Given the description of an element on the screen output the (x, y) to click on. 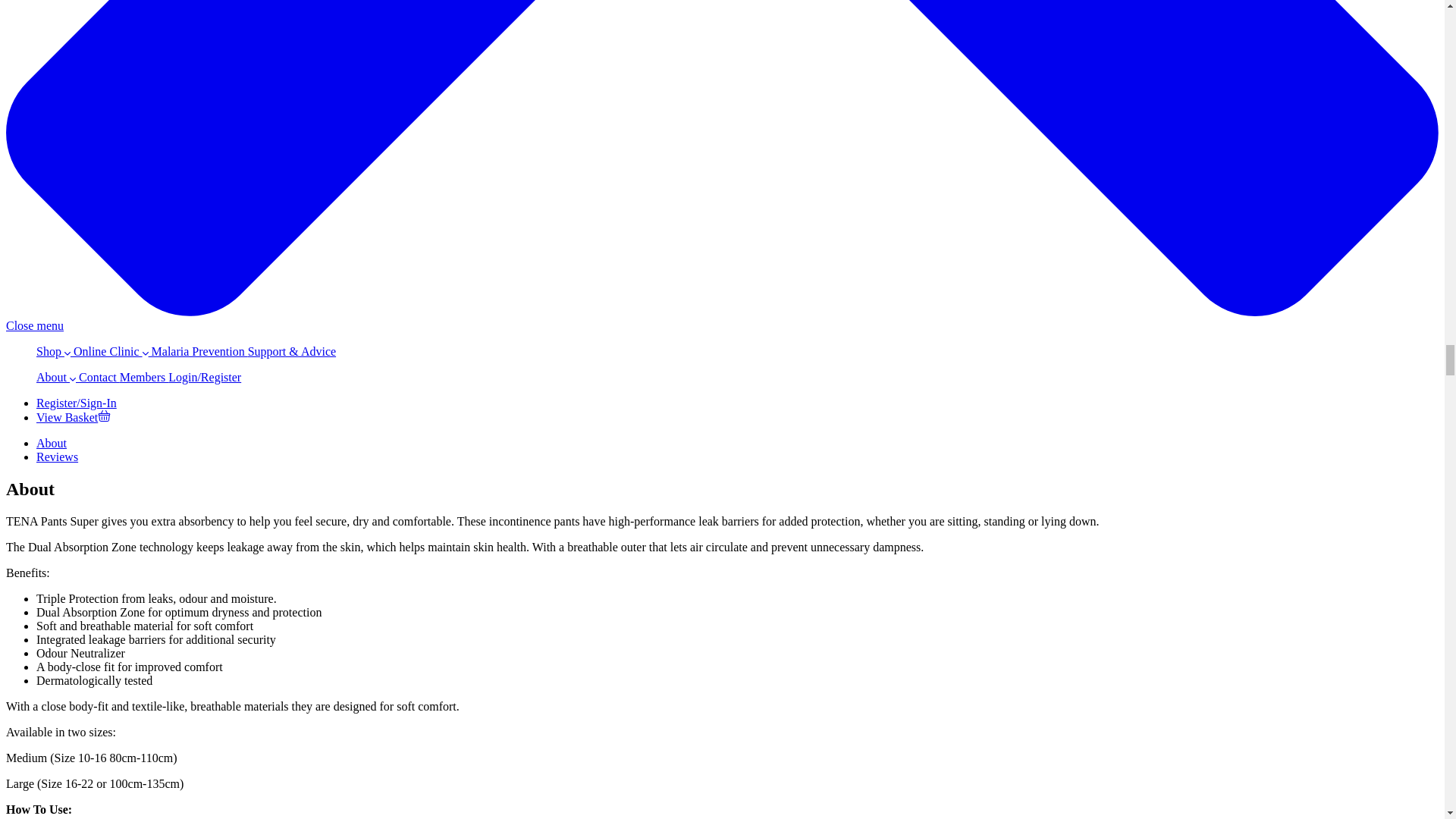
Contact (97, 377)
Malaria Prevention (197, 350)
Members (143, 377)
Shop (52, 350)
View basket (73, 417)
About (51, 442)
Reviews (57, 456)
View Basket (73, 417)
Online Clinic (108, 350)
About (55, 377)
